Given the description of an element on the screen output the (x, y) to click on. 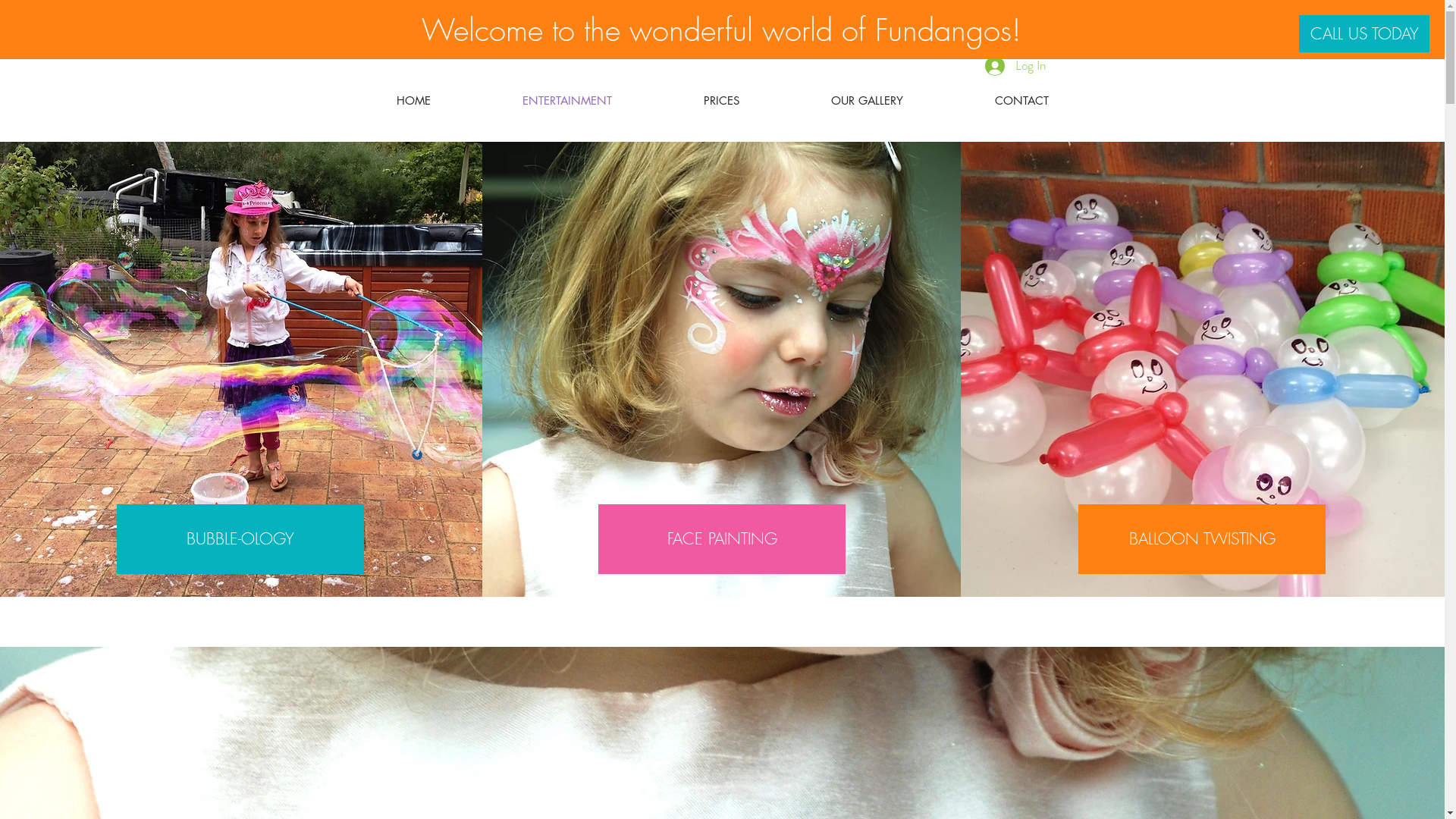
OUR GALLERY Element type: text (867, 100)
CONTACT Element type: text (1021, 100)
FACE PAINTING Element type: text (721, 539)
BALLOON TWISTING Element type: text (1201, 539)
Log In Element type: text (1014, 65)
PRICES Element type: text (721, 100)
ENTERTAINMENT Element type: text (566, 100)
HOME Element type: text (413, 100)
CALL US TODAY Element type: text (1364, 33)
BUBBLE-OLOGY Element type: text (240, 539)
